Given the description of an element on the screen output the (x, y) to click on. 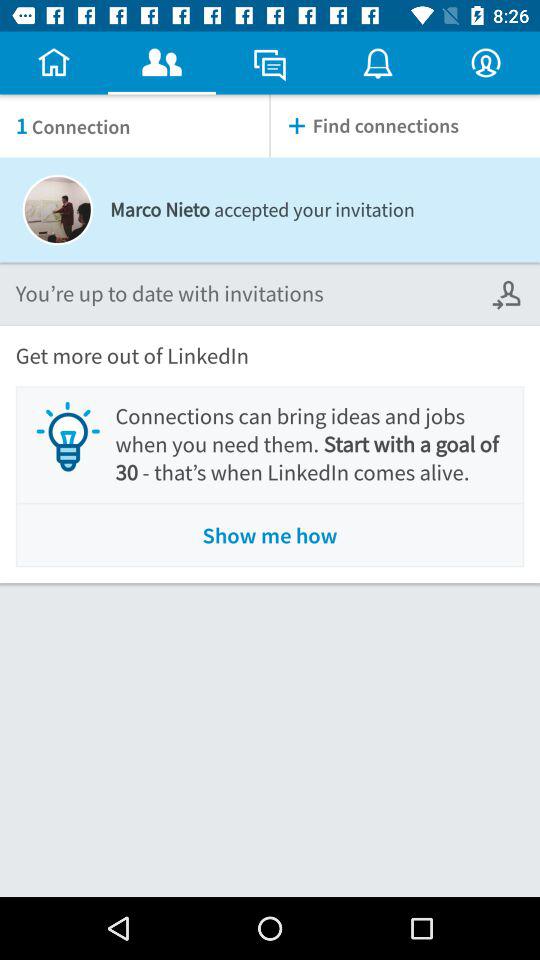
press item to the right of you re up item (508, 293)
